Given the description of an element on the screen output the (x, y) to click on. 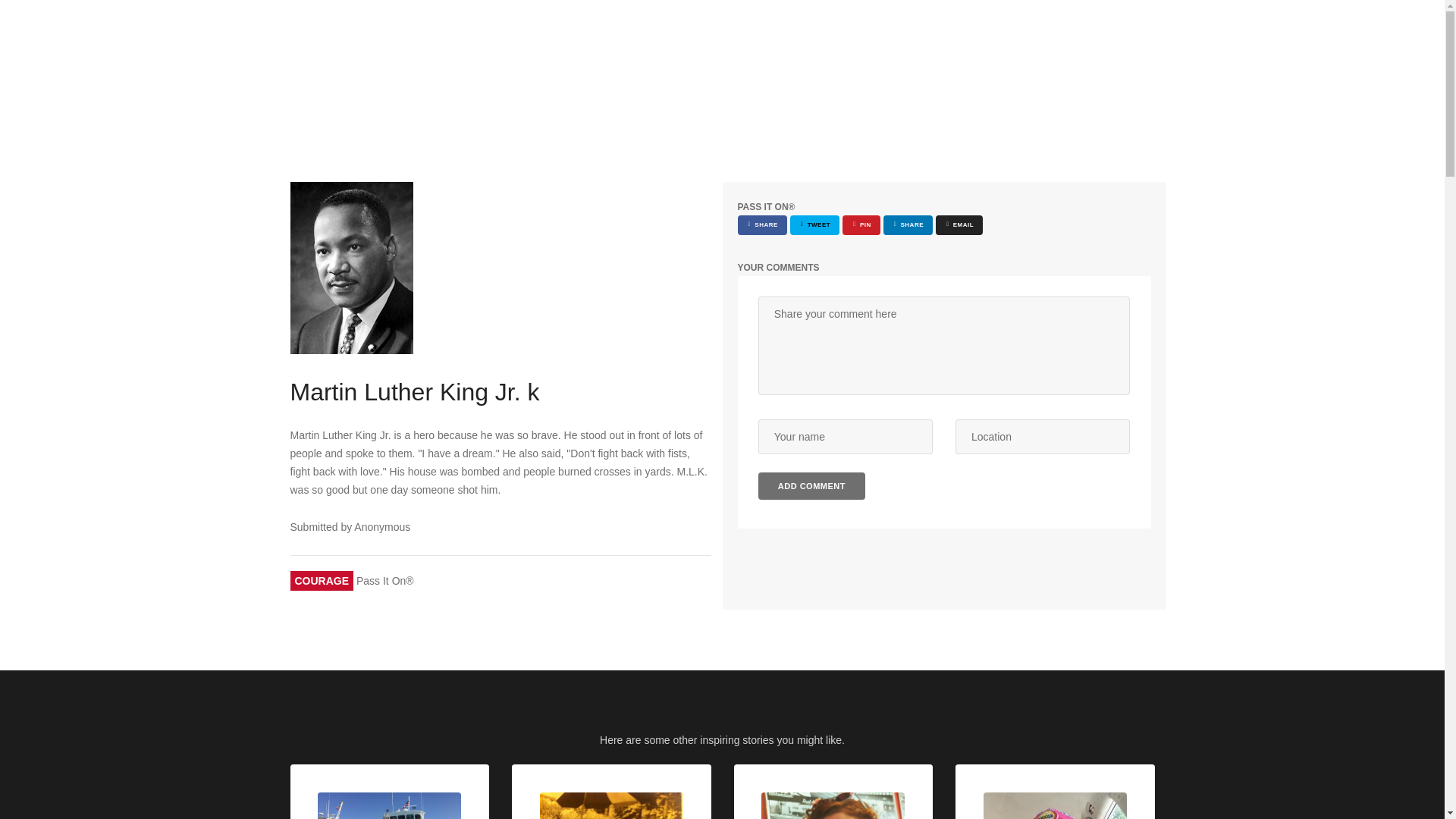
  SHARE (908, 225)
Add Comment (811, 485)
  TWEET (815, 225)
  SHARE (761, 225)
NEWSPAPERS (1095, 27)
  EMAIL (959, 225)
BILLBOARDS (1005, 27)
Add Comment (811, 485)
  PIN (861, 225)
